Given the description of an element on the screen output the (x, y) to click on. 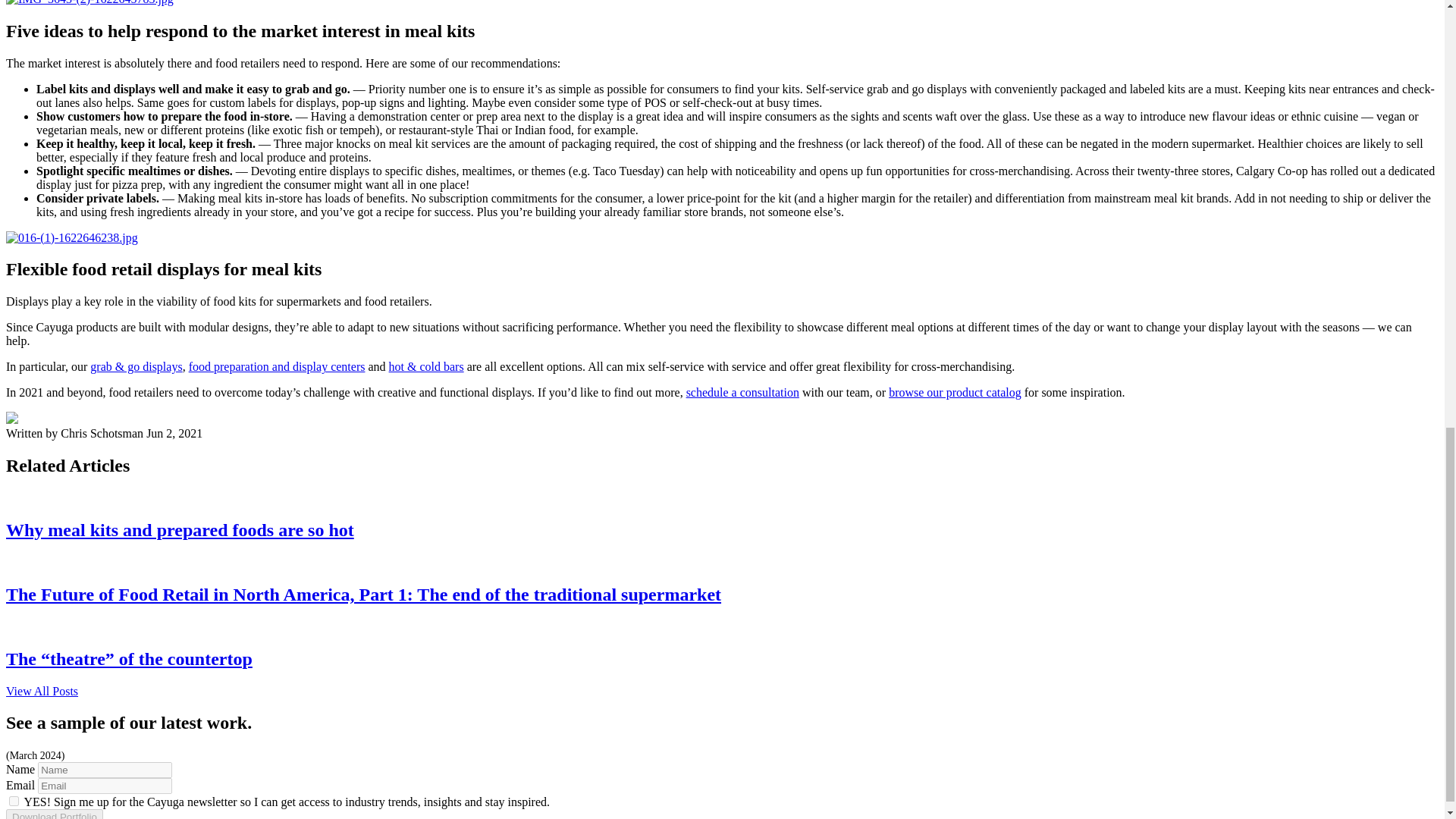
yes (13, 800)
